Given the description of an element on the screen output the (x, y) to click on. 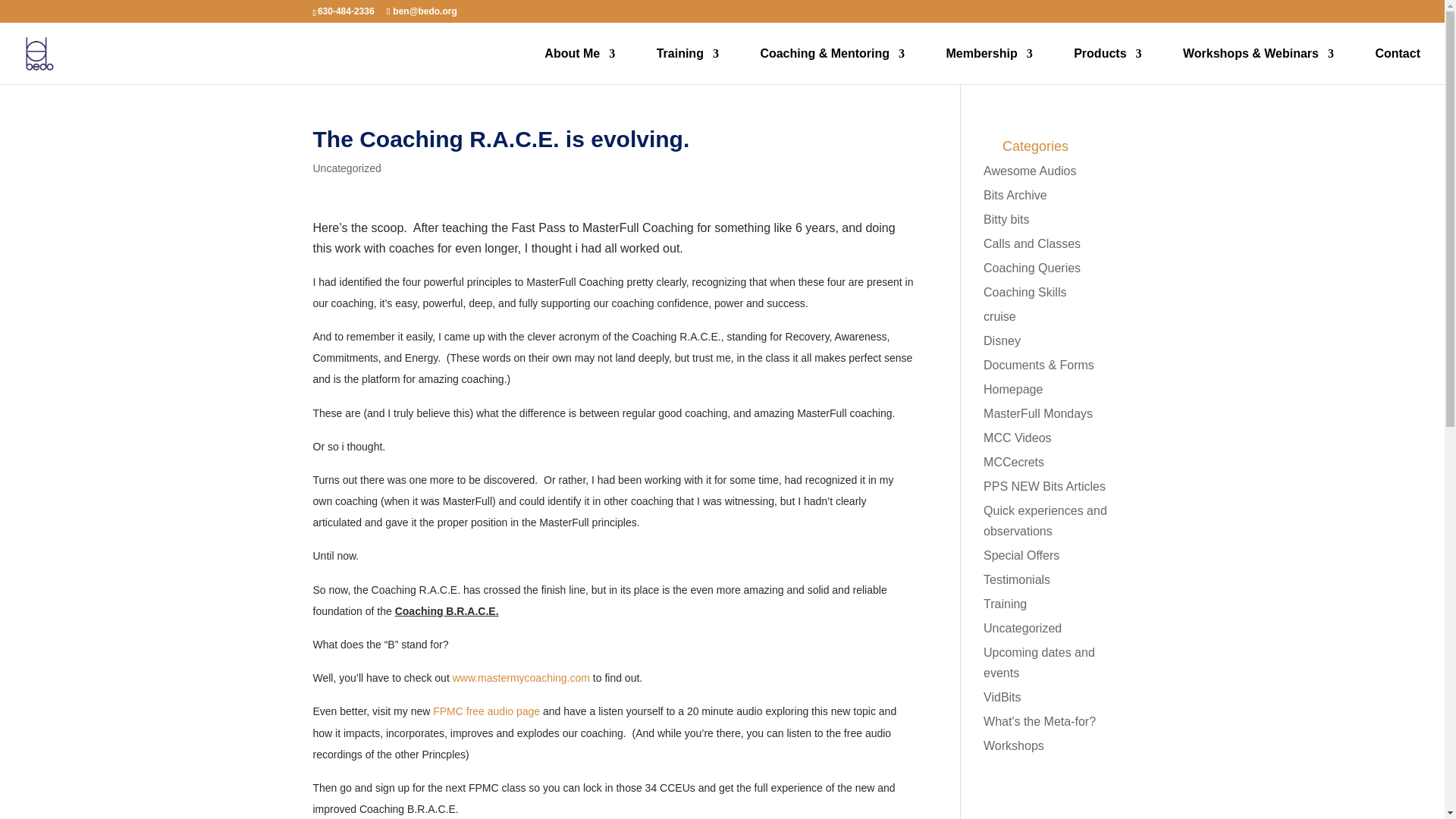
Training (687, 66)
The FPMC Free audios (487, 711)
Products (1107, 66)
Contact (1397, 66)
The Fast Pass to MasterFull Coaching (520, 677)
Membership (988, 66)
About Me (579, 66)
